Given the description of an element on the screen output the (x, y) to click on. 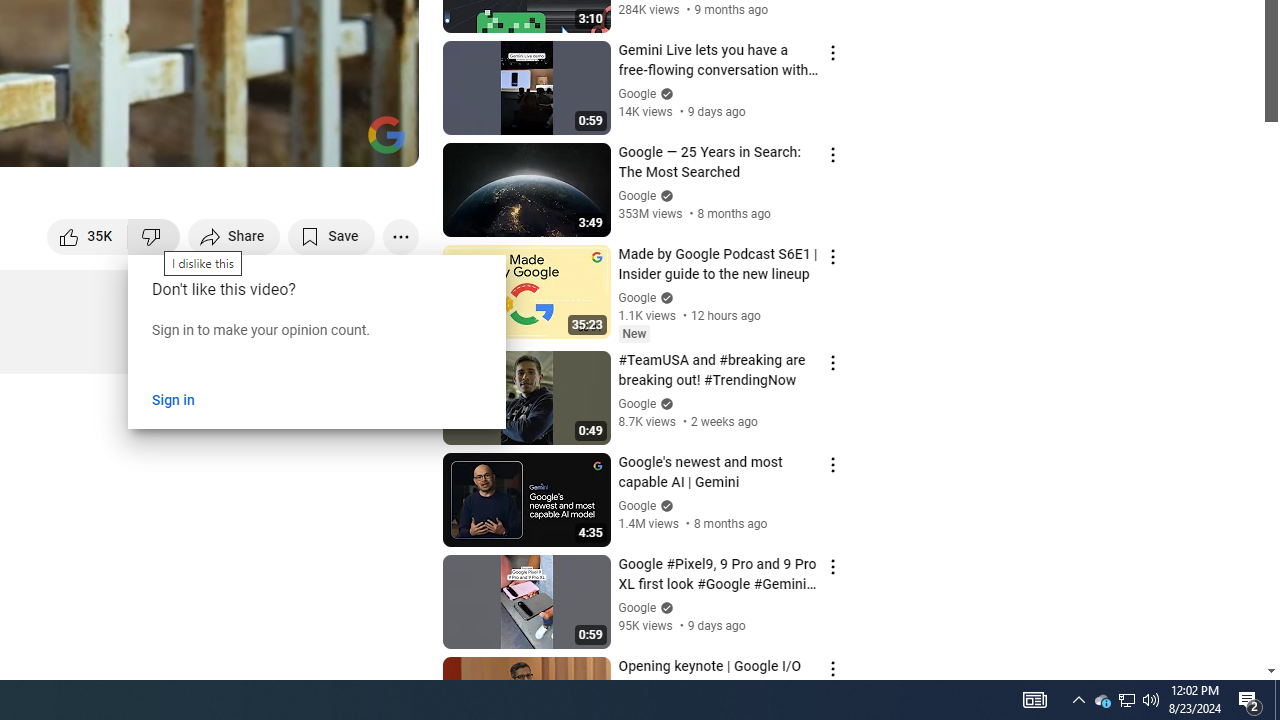
Miniplayer (i) (286, 142)
More actions (399, 236)
Channel watermark (386, 134)
Verified (664, 606)
like this video along with 35,367 other people (88, 236)
Channel watermark (386, 134)
